Given the description of an element on the screen output the (x, y) to click on. 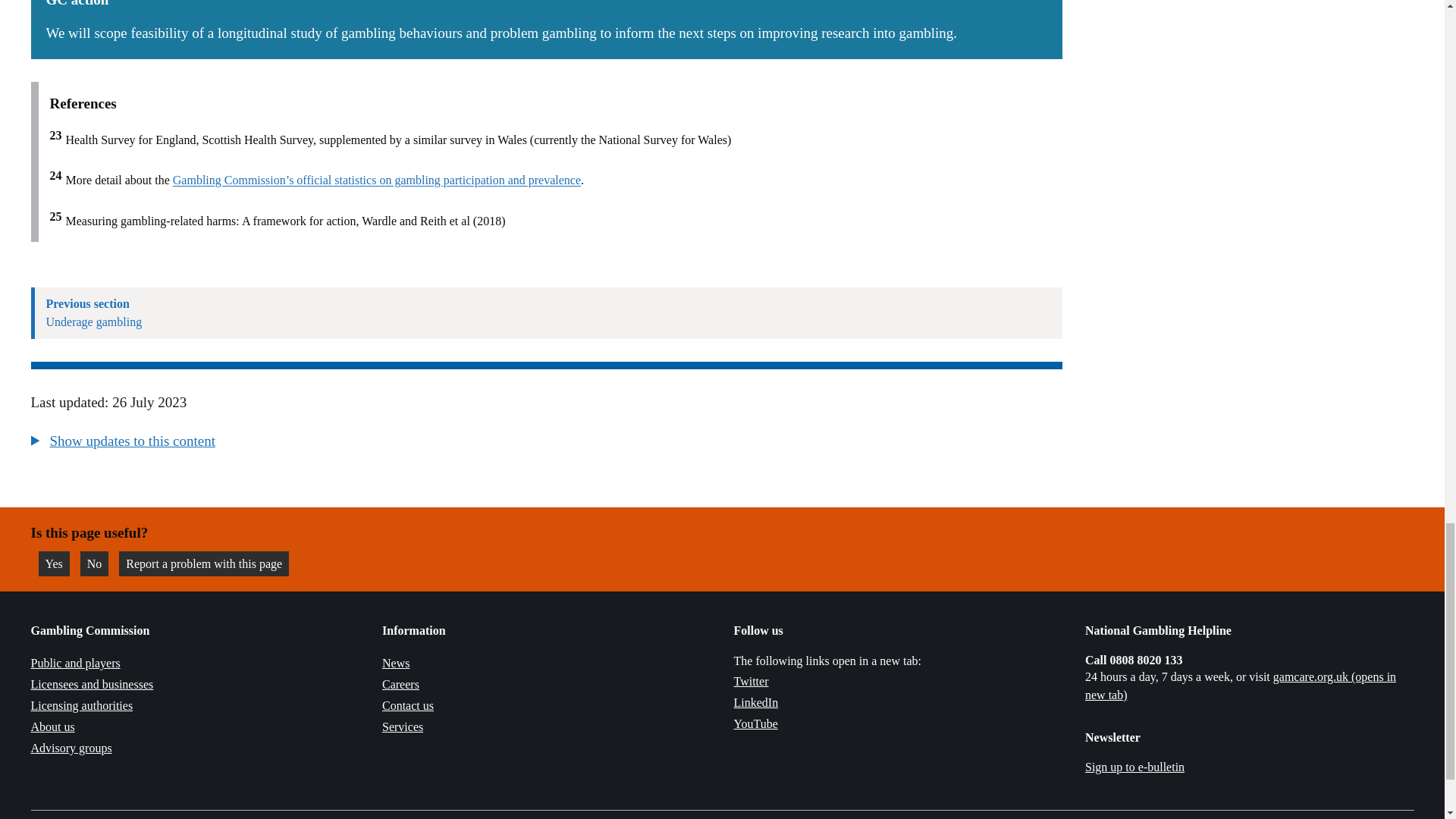
Link opens in a new tab (1240, 685)
Link opens in a new tab (750, 680)
Link opens in a new tab (755, 723)
Link opens in a new tab (755, 702)
